Given the description of an element on the screen output the (x, y) to click on. 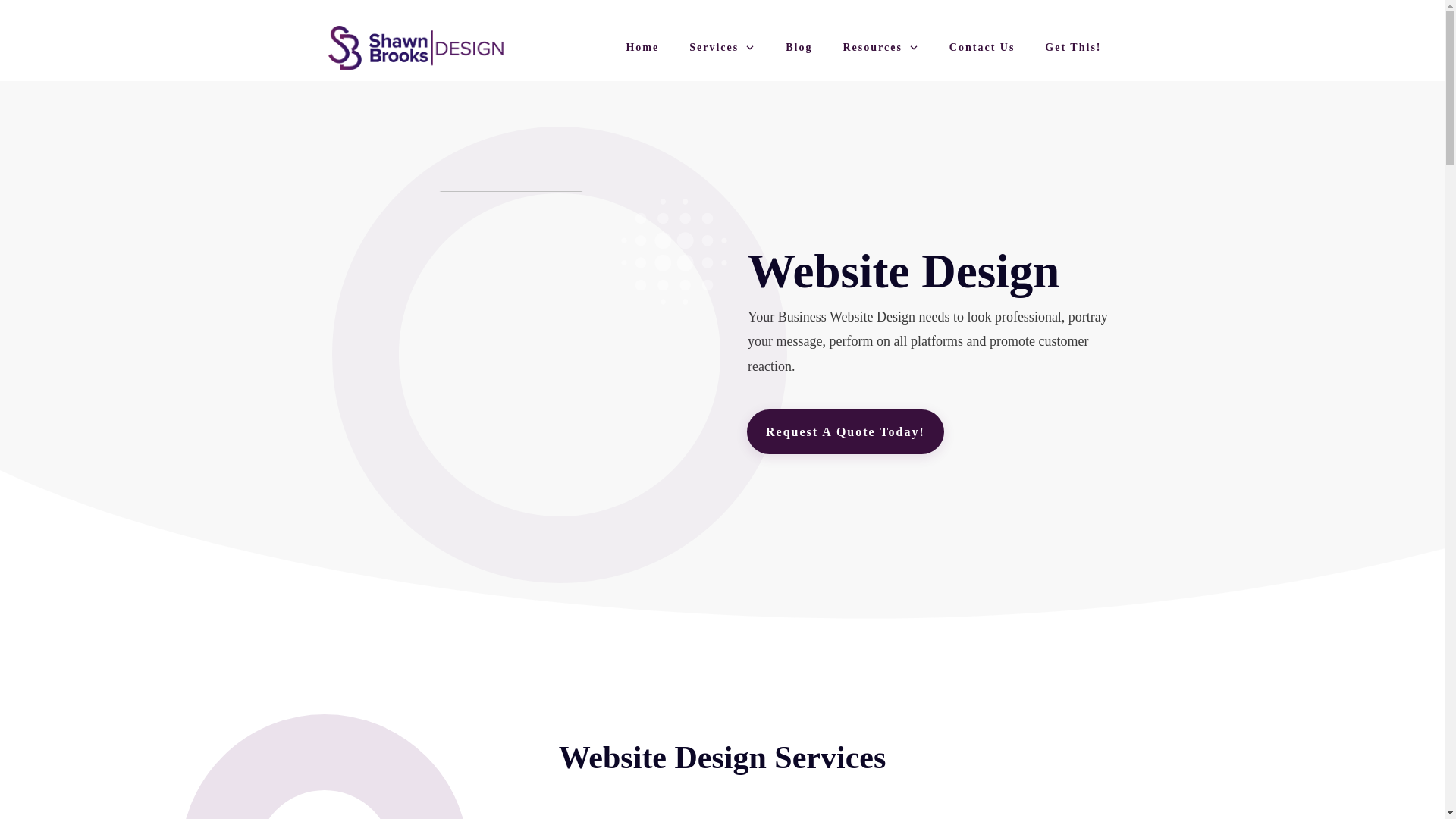
Get This! (1072, 47)
Resources (880, 47)
Request A Quote Today! (844, 431)
Home (642, 47)
Contact Us (981, 47)
Blog (799, 47)
Request A Quote Today! (844, 431)
Services (721, 47)
